Given the description of an element on the screen output the (x, y) to click on. 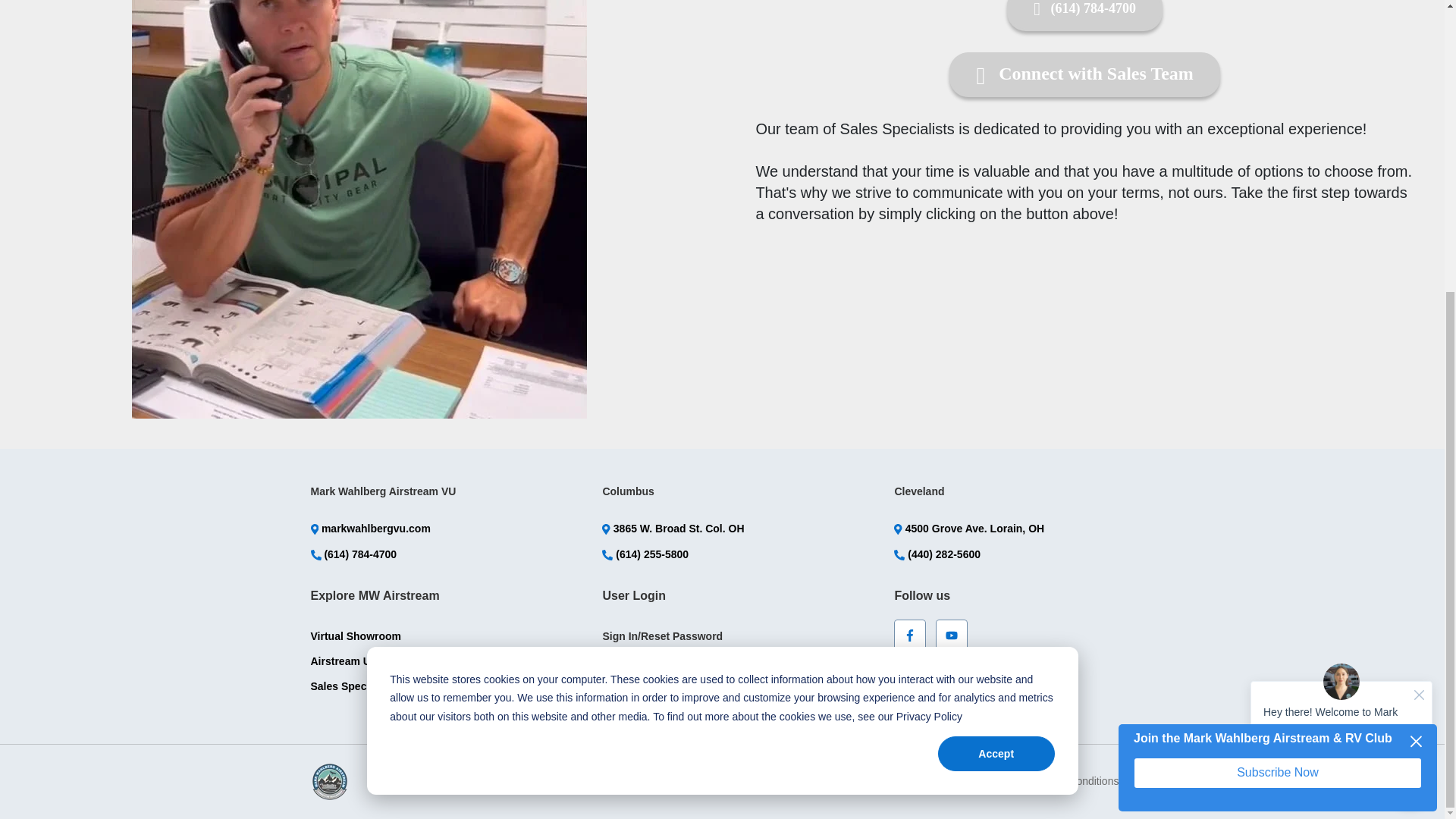
youtube icon (951, 635)
facebook-f icon (909, 634)
Twitter icon (909, 674)
instagram icon (951, 675)
Sales Specialists (354, 686)
   Connect with Sales Team (1084, 74)
File Cabinet (632, 662)
logo vu (330, 781)
facebook-f icon (909, 635)
instagram icon (952, 674)
Virtual Showroom (356, 635)
   Connect with Sales Team (1084, 74)
Airstream Units (350, 661)
Twitter icon (909, 675)
